Given the description of an element on the screen output the (x, y) to click on. 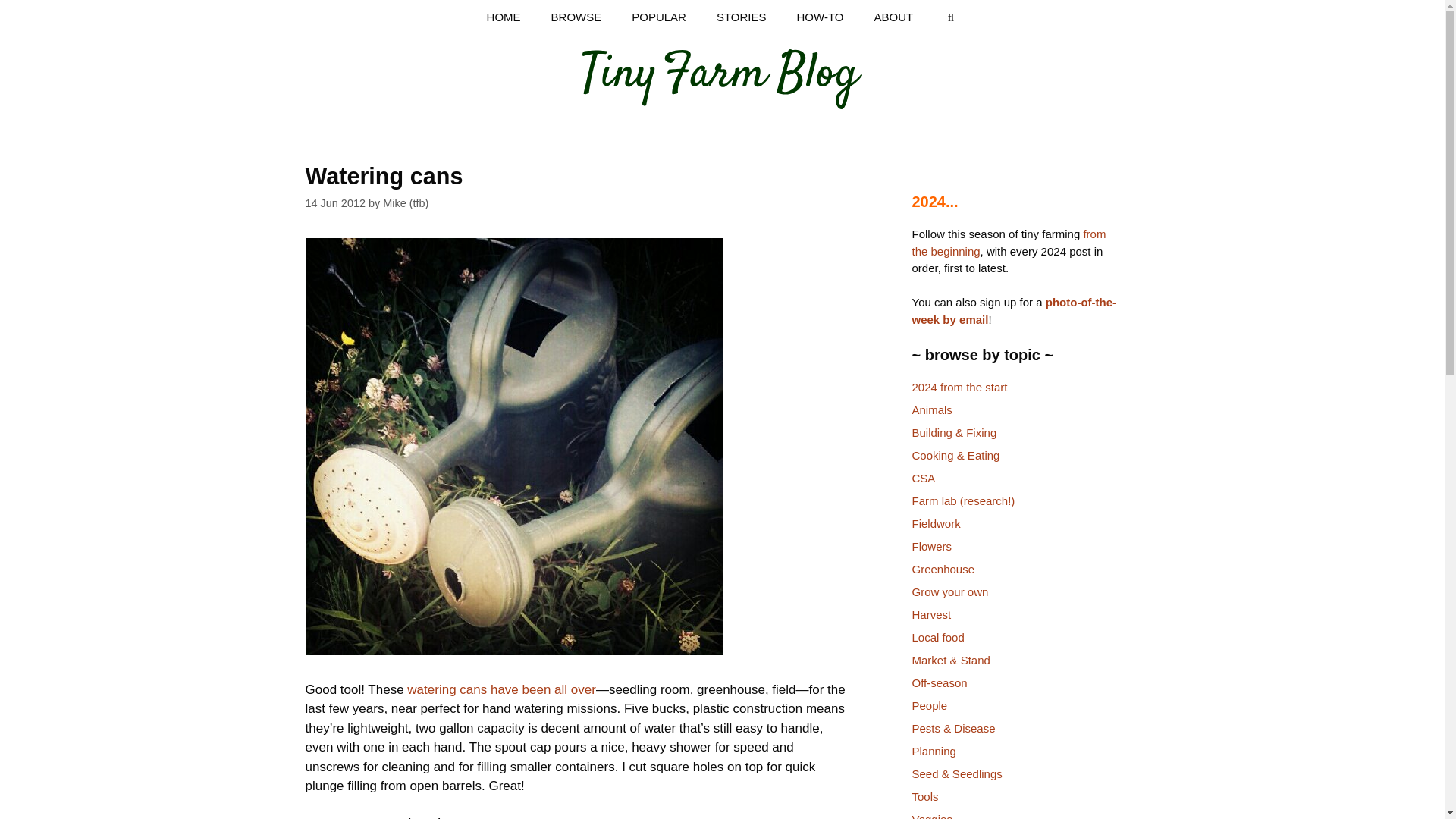
STORIES (741, 17)
Fieldwork (935, 522)
2024 from the start (959, 386)
photo-of-the-week by email (1013, 310)
POPULAR (658, 17)
HOW-TO (820, 17)
HOME (503, 17)
BROWSE (576, 17)
ABOUT (893, 17)
from the beginning (1008, 242)
Flowers (931, 545)
Animals (931, 409)
Another hand-watering method (501, 689)
Grow your own (949, 591)
watering cans have been all over (501, 689)
